Given the description of an element on the screen output the (x, y) to click on. 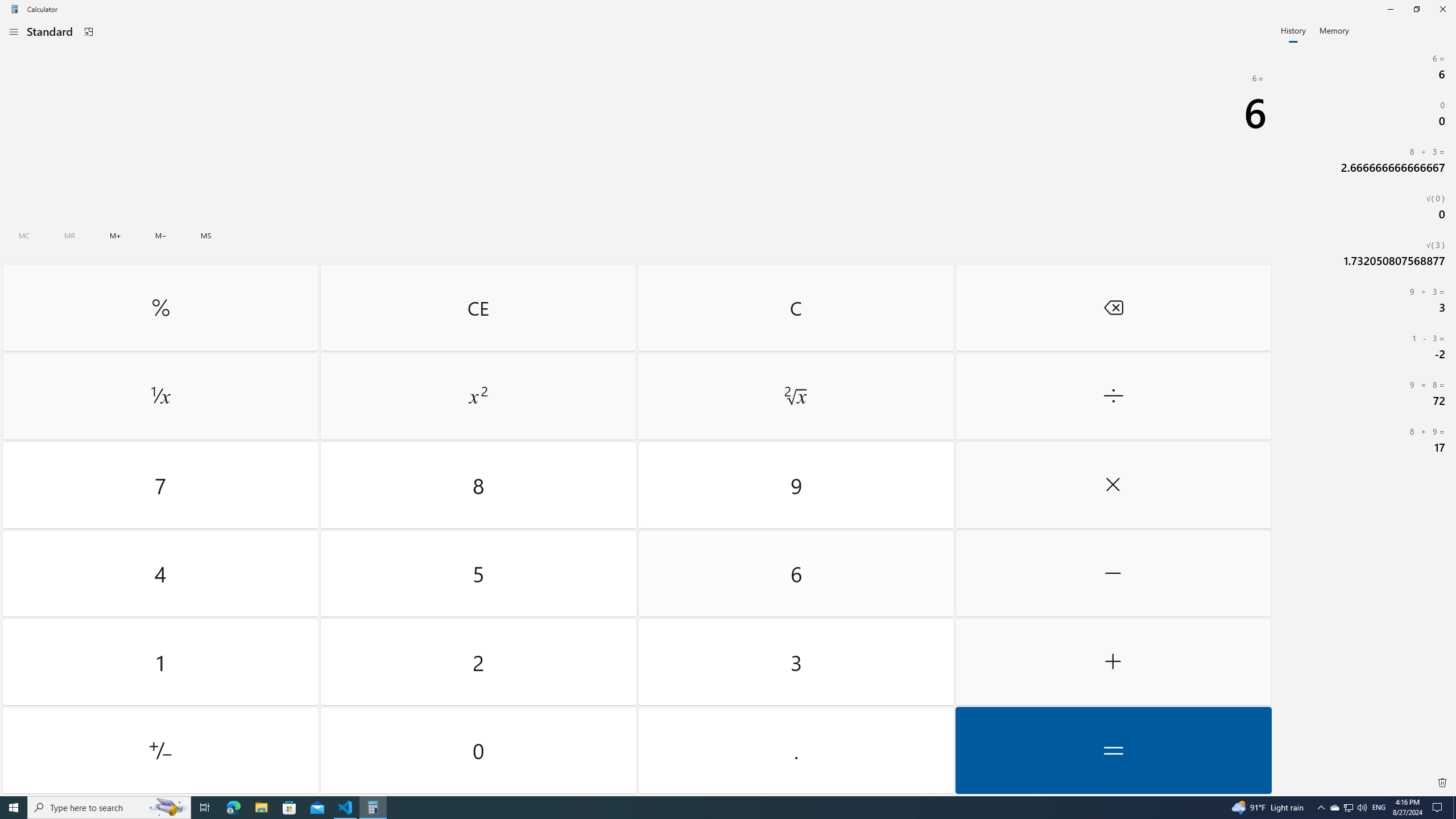
Seven (160, 485)
Two (478, 661)
Plus (1113, 661)
One (160, 661)
Divide by (1113, 396)
Six (795, 572)
History (1293, 29)
Running applications (706, 807)
Close Calculator (1442, 9)
Reciprocal (160, 396)
Clear all memory (24, 235)
